Given the description of an element on the screen output the (x, y) to click on. 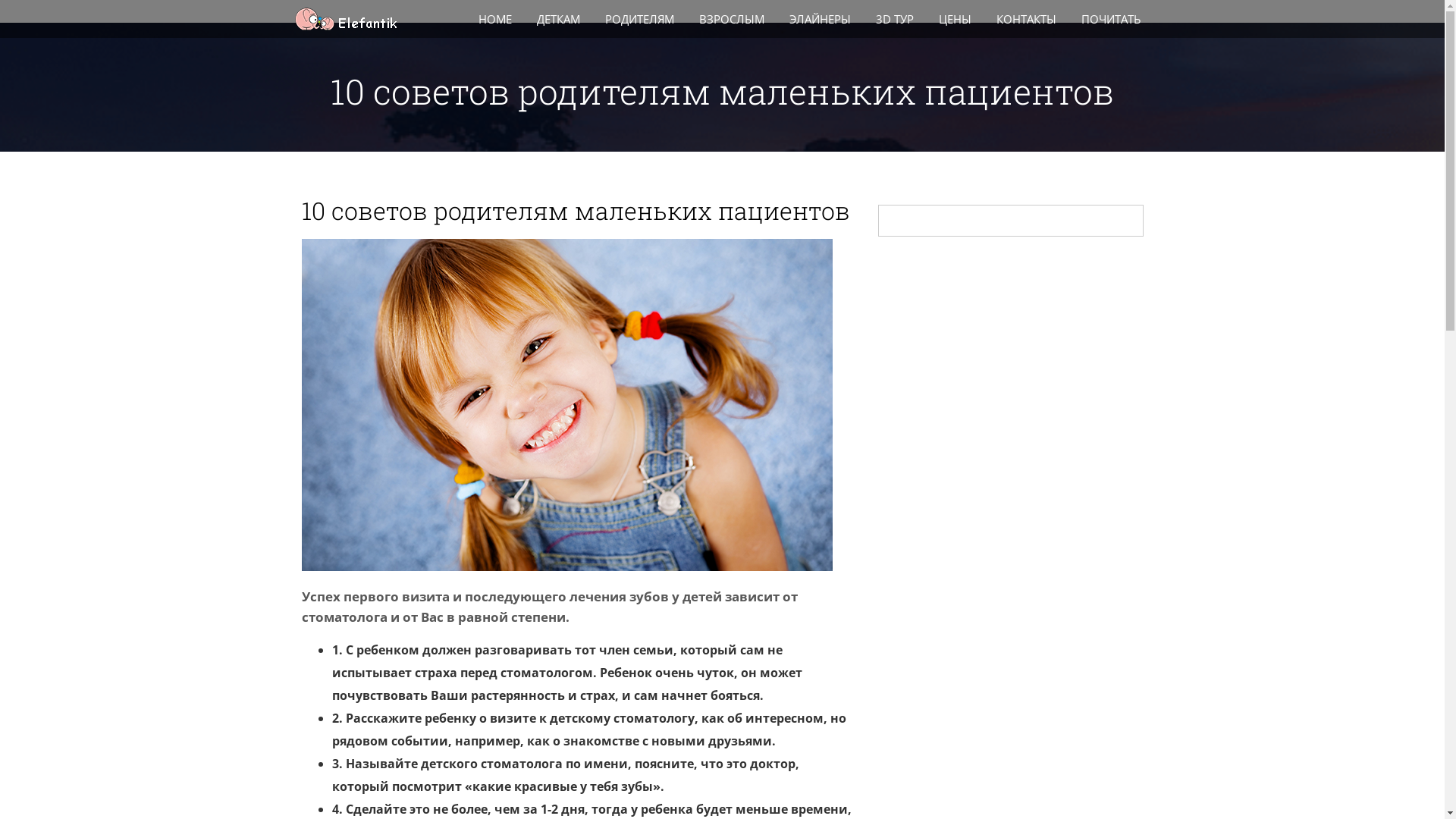
HOME Element type: text (495, 18)
